Given the description of an element on the screen output the (x, y) to click on. 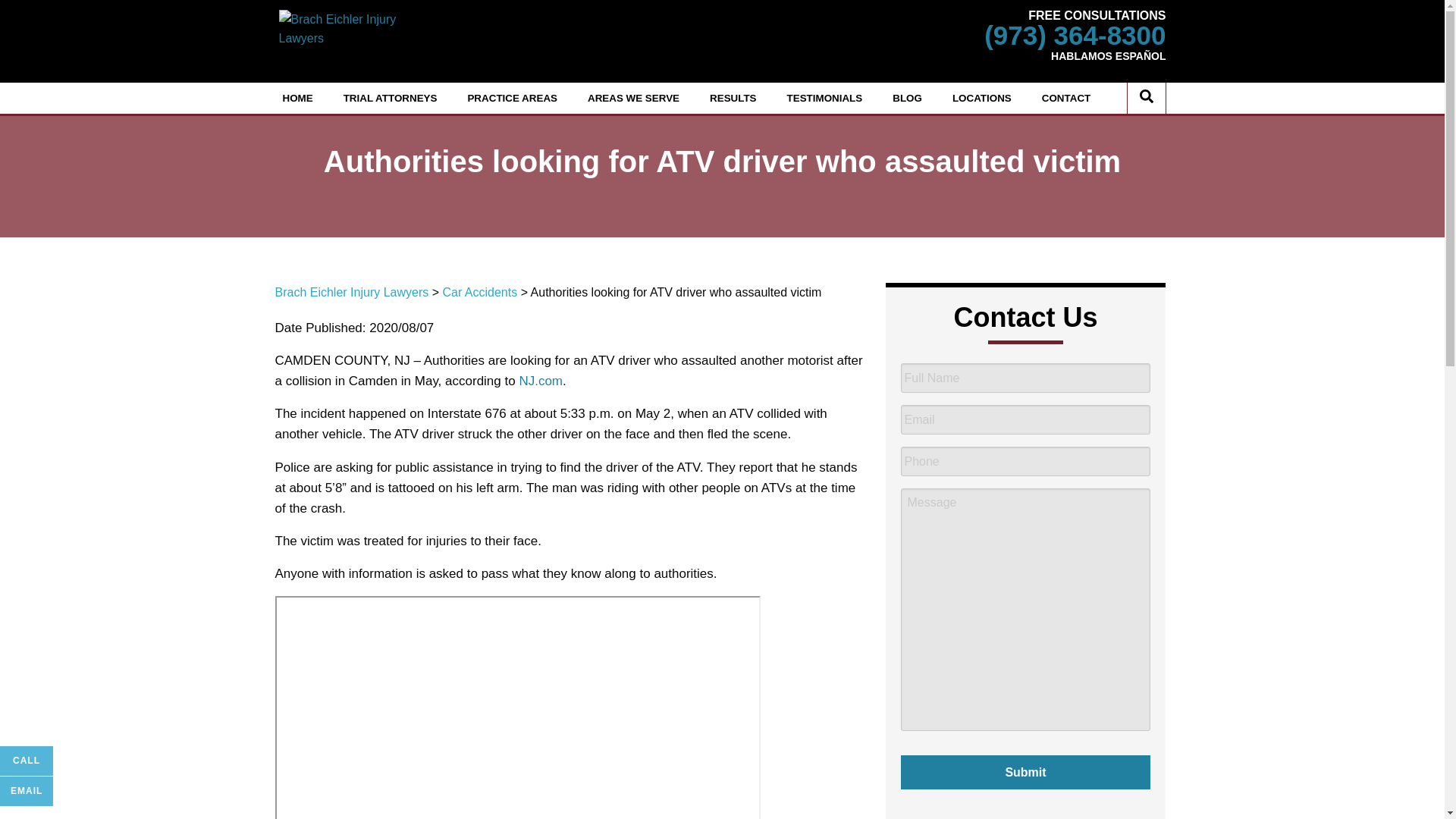
Go to the Car Accidents category archives. (479, 291)
Go to Brach Eichler Injury Lawyers. (351, 291)
Submit (1026, 772)
